Given the description of an element on the screen output the (x, y) to click on. 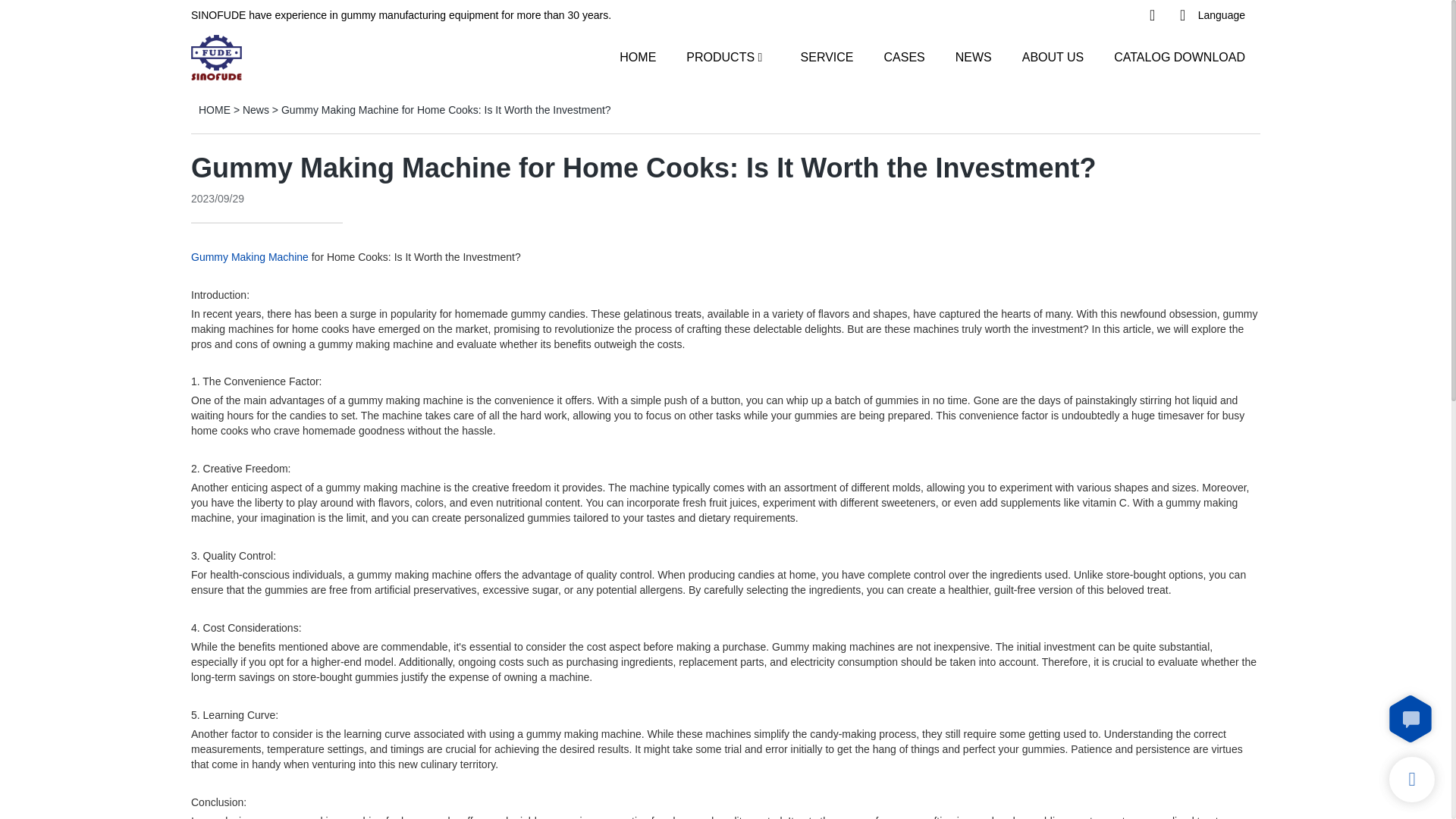
SERVICE (826, 56)
HOME (638, 56)
Gummy Making Machine (249, 256)
PRODUCTS (719, 56)
CASES (903, 56)
